Given the description of an element on the screen output the (x, y) to click on. 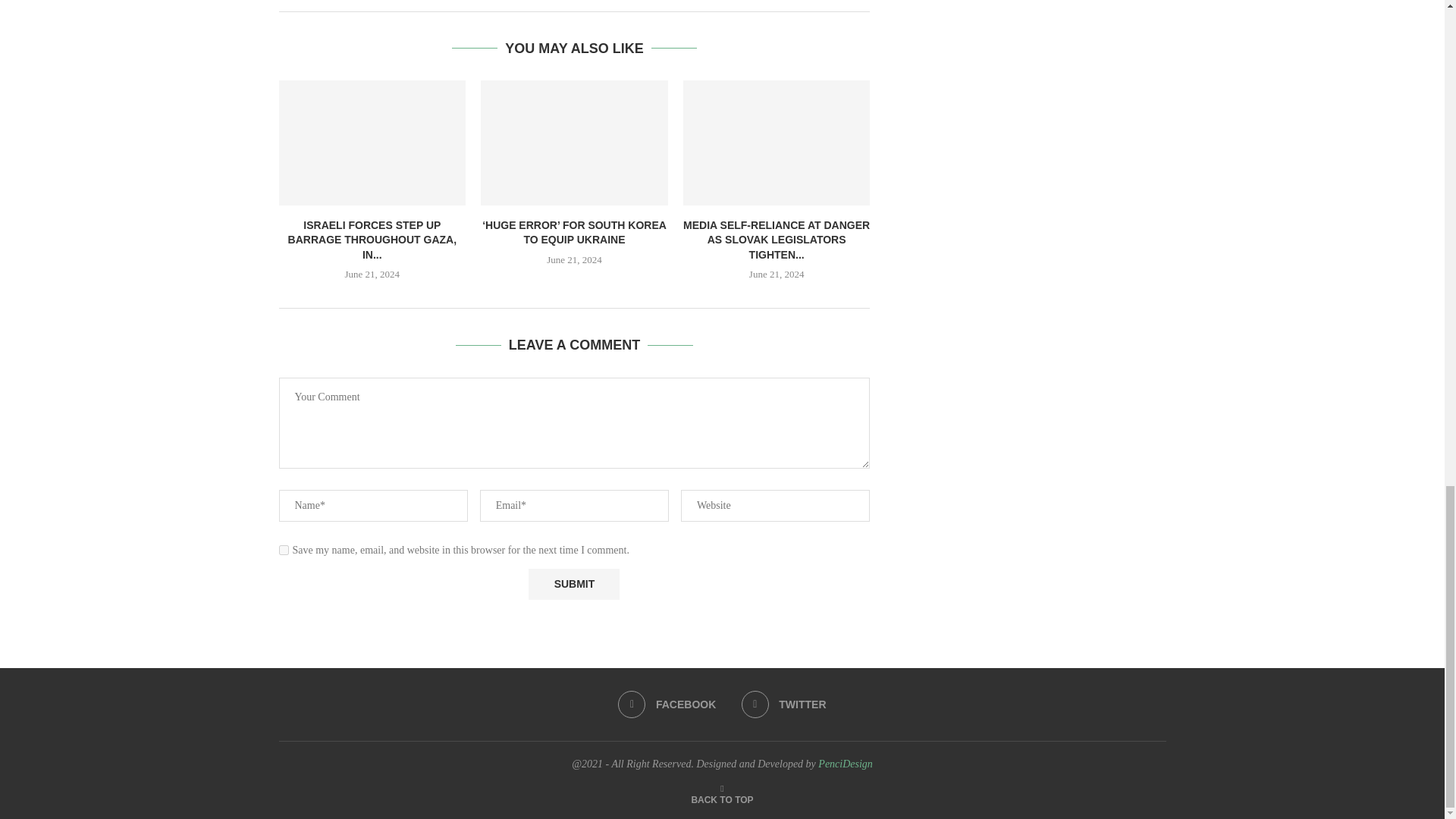
yes (283, 550)
ISRAELI FORCES STEP UP BARRAGE THROUGHOUT GAZA, IN... (372, 240)
Submit (574, 583)
